Given the description of an element on the screen output the (x, y) to click on. 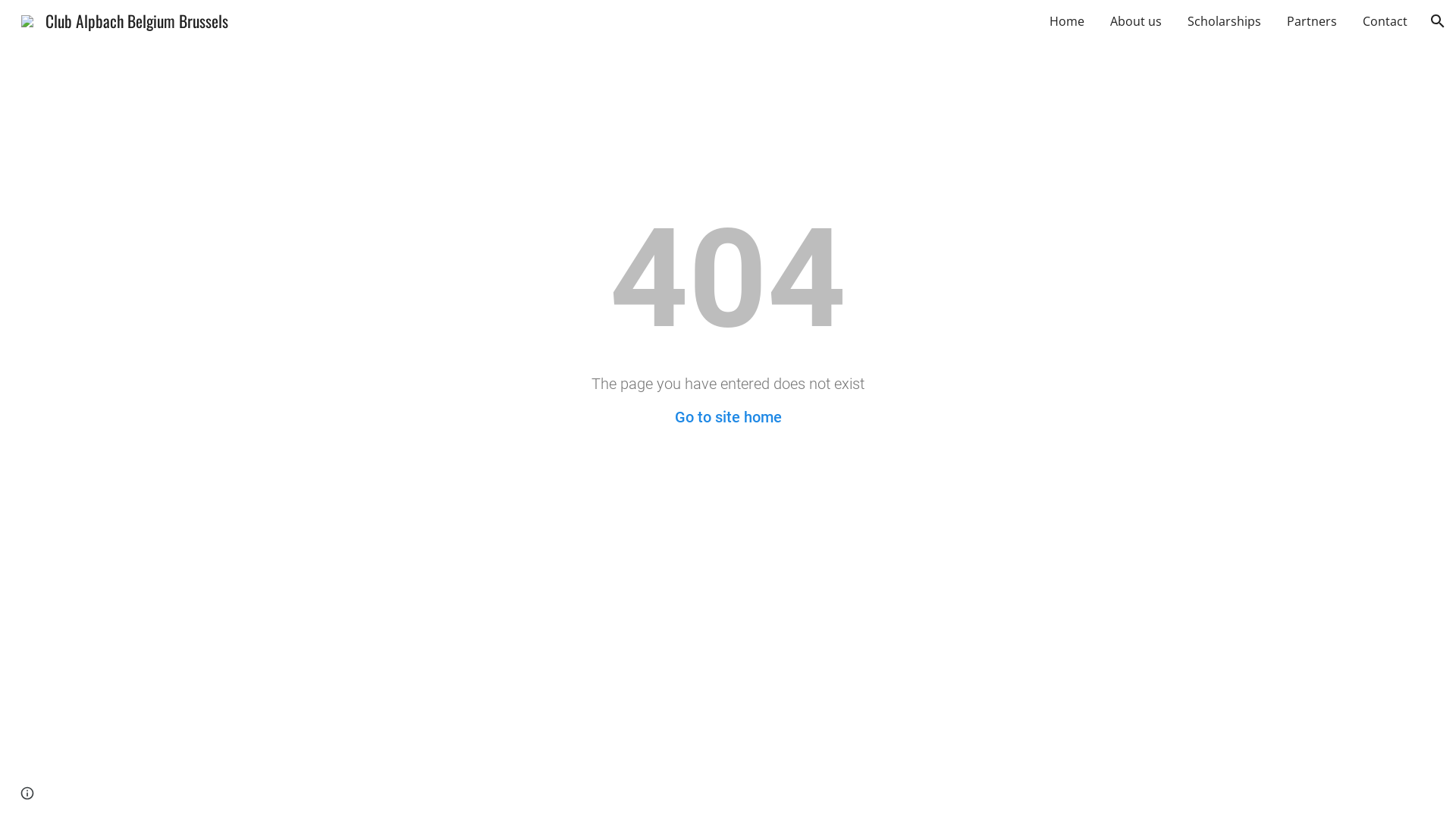
About us Element type: text (1135, 20)
Club Alpbach Belgium Brussels Element type: text (124, 18)
Scholarships Element type: text (1223, 20)
Partners Element type: text (1311, 20)
Contact Element type: text (1385, 20)
Go to site home Element type: text (727, 416)
Home Element type: text (1066, 20)
